Given the description of an element on the screen output the (x, y) to click on. 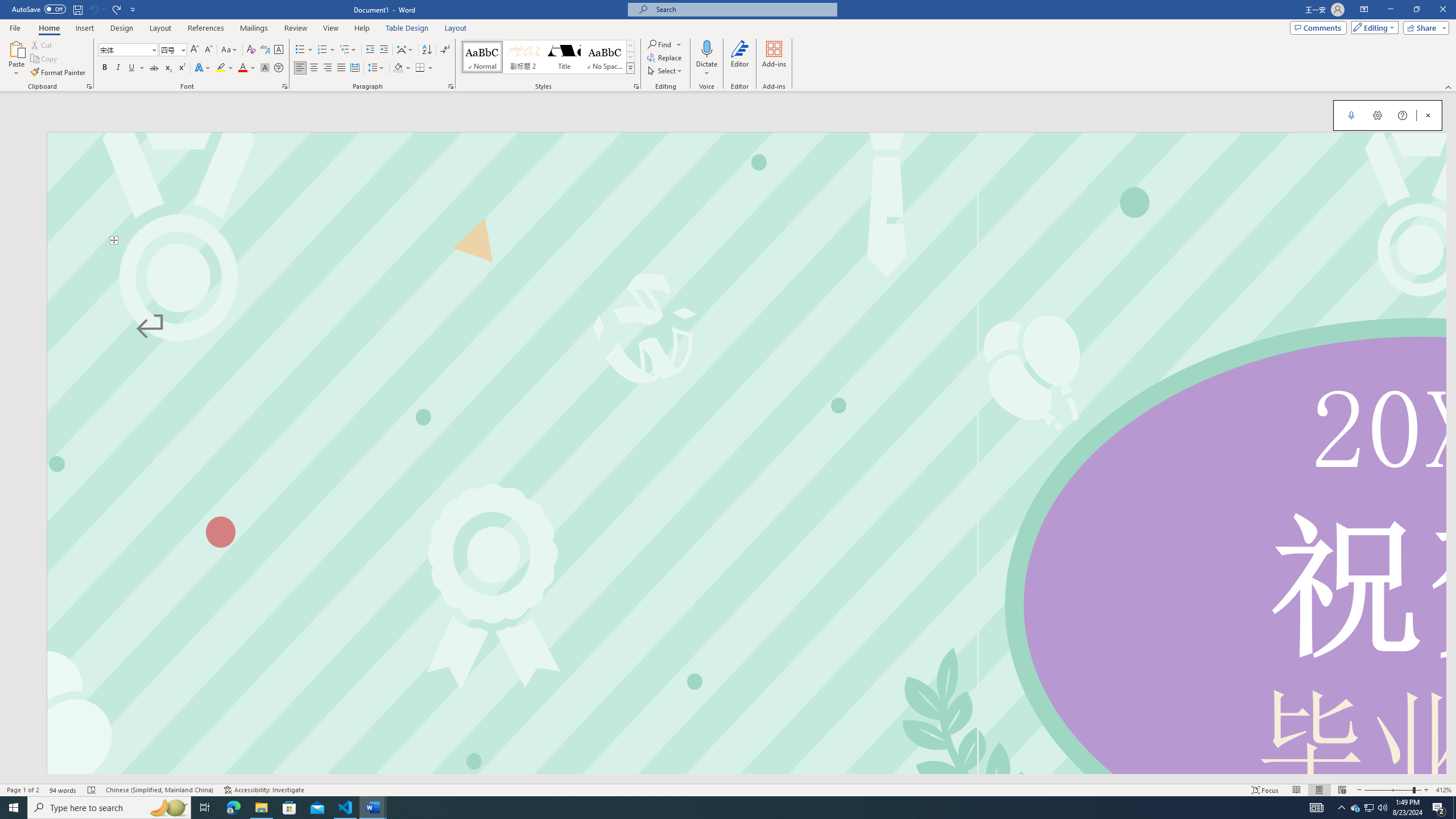
Home (48, 28)
Dictation Settings (1377, 115)
Page 1 content (745, 508)
Comments (1318, 27)
Select (665, 69)
Text Effects and Typography (202, 67)
Multilevel List (347, 49)
Underline (131, 67)
First Page Header -Section 1- (745, 187)
Microsoft search (742, 9)
Replace... (665, 56)
Italic (118, 67)
Page Number Page 1 of 2 (22, 790)
Numbering (326, 49)
